Given the description of an element on the screen output the (x, y) to click on. 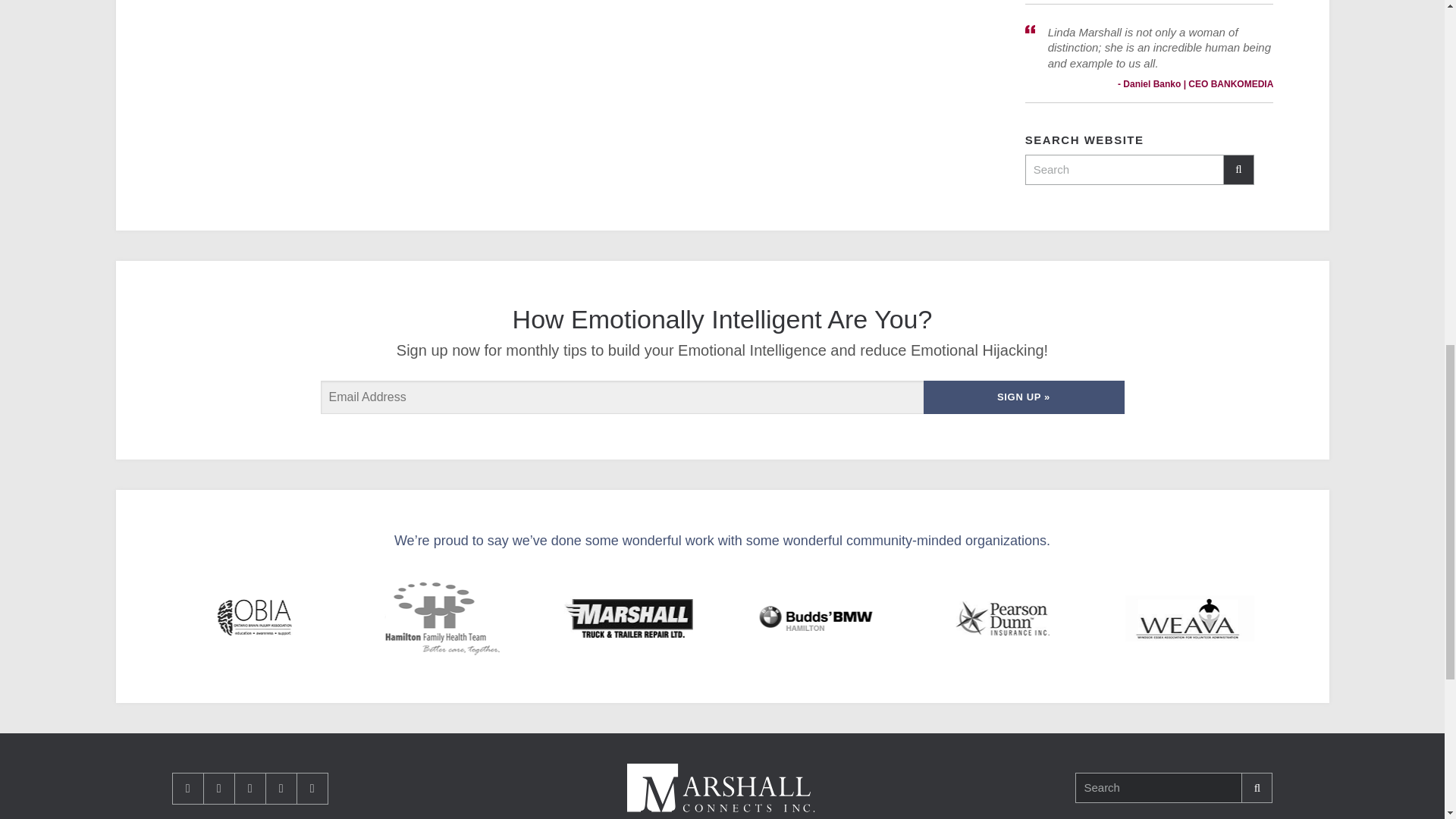
Search (1124, 169)
Search (1158, 788)
